Given the description of an element on the screen output the (x, y) to click on. 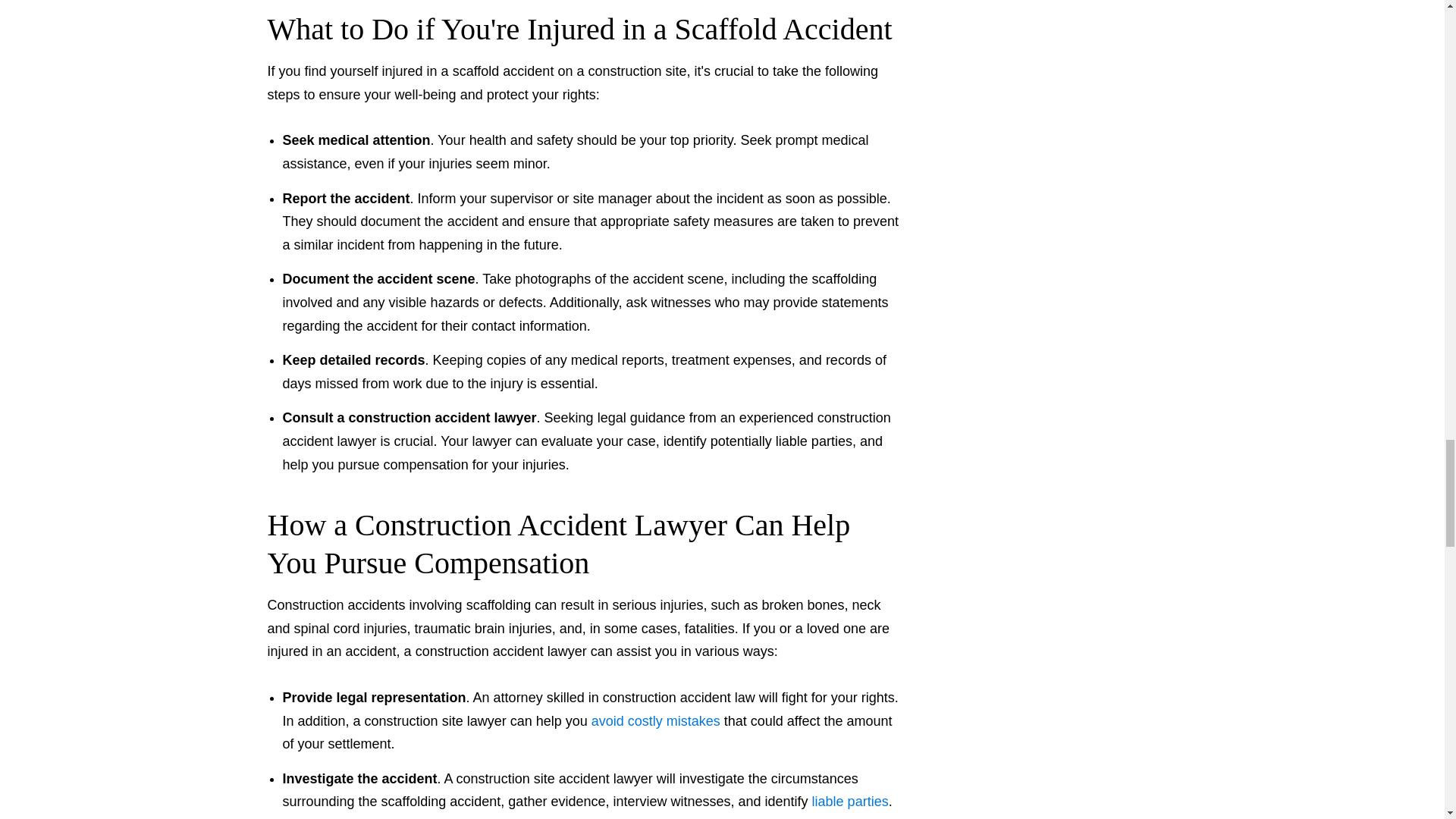
avoid costly mistakes (655, 720)
